Given the description of an element on the screen output the (x, y) to click on. 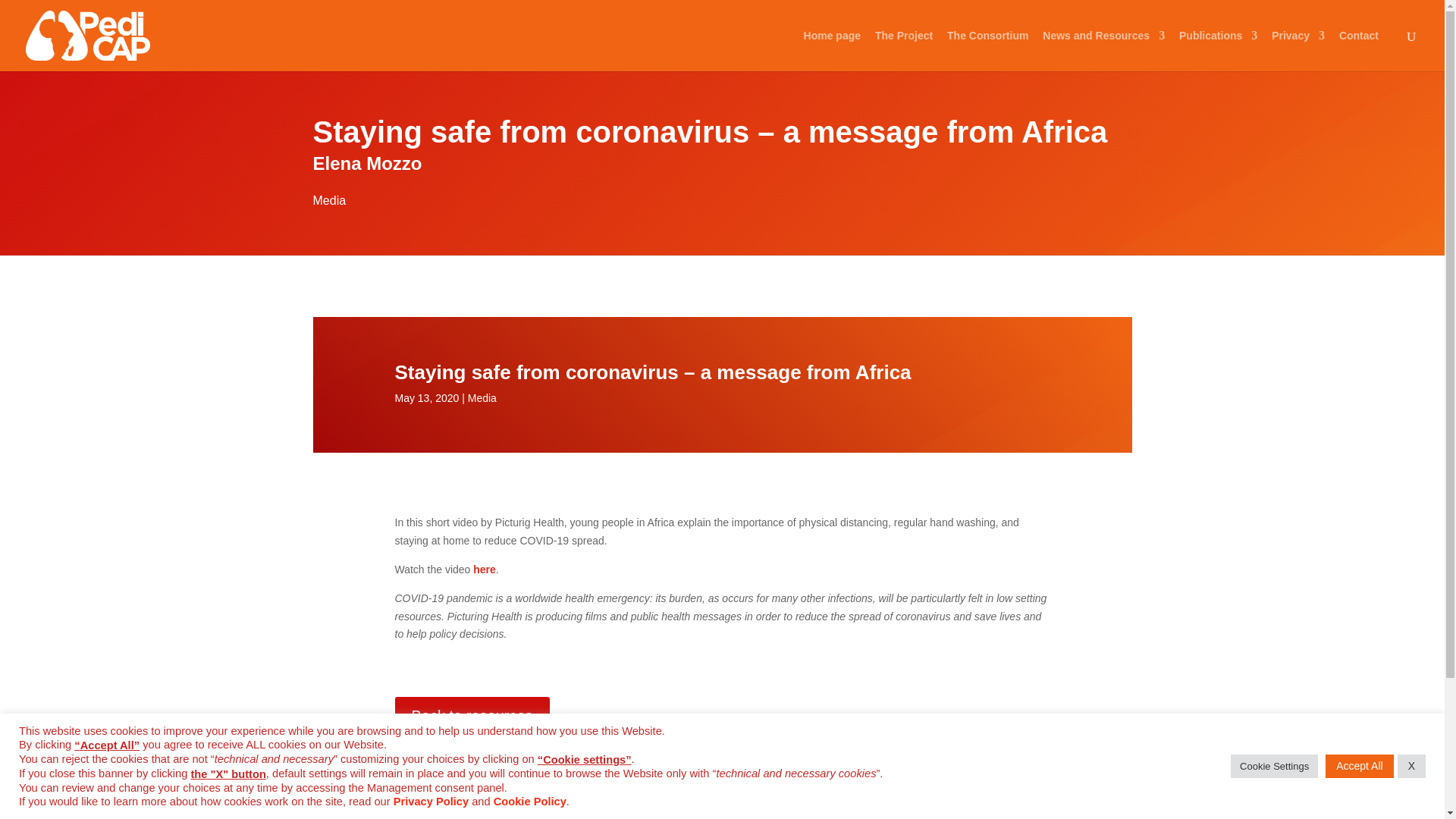
Media (481, 398)
The Project (904, 50)
Publications (1218, 50)
Cookie Policy (529, 801)
Cookie Settings (1273, 766)
Back to resources (471, 715)
Accept All (1358, 766)
X (1411, 766)
News and Resources (1103, 50)
Media (329, 200)
